Given the description of an element on the screen output the (x, y) to click on. 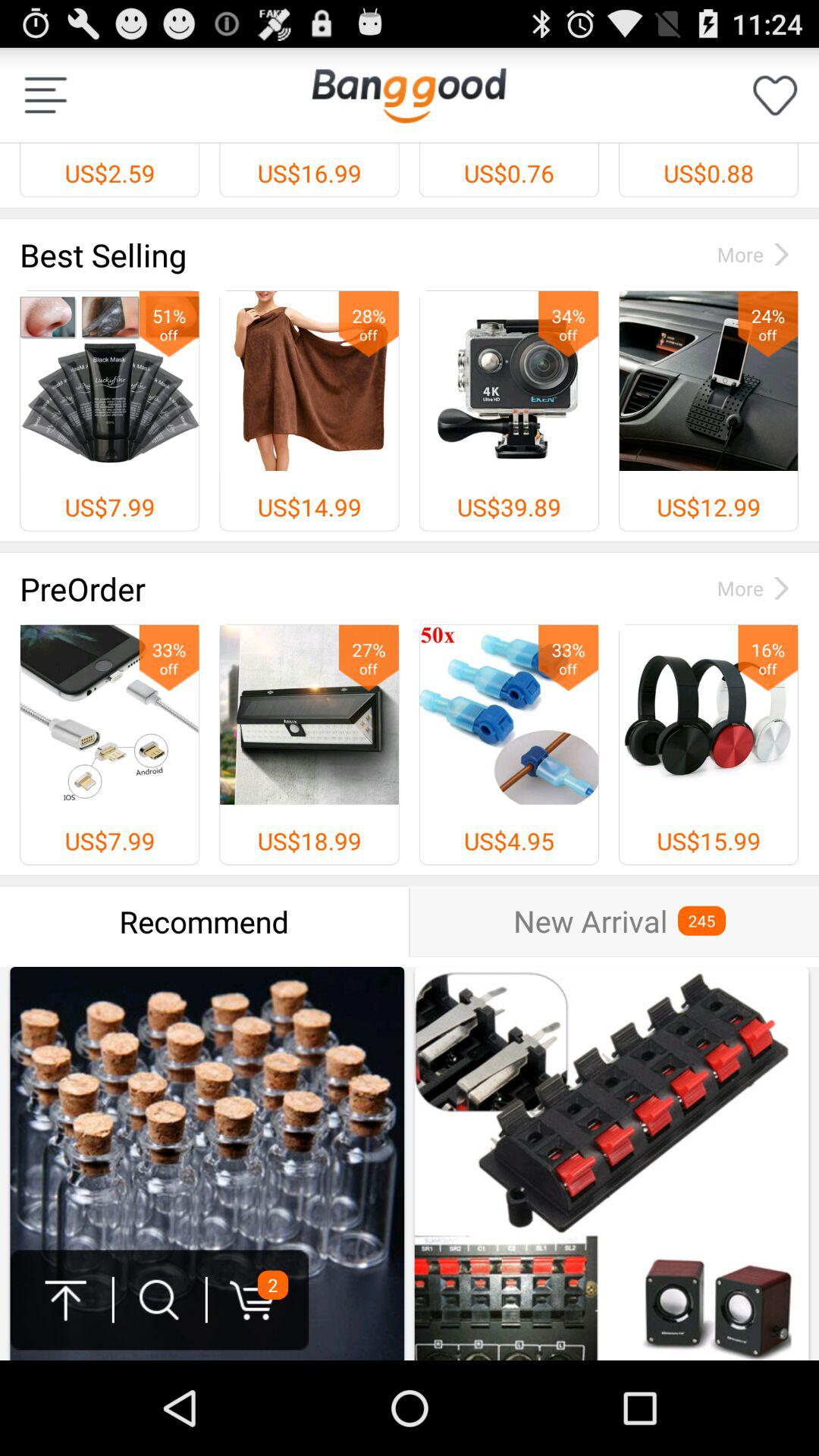
click to like option (775, 95)
